Given the description of an element on the screen output the (x, y) to click on. 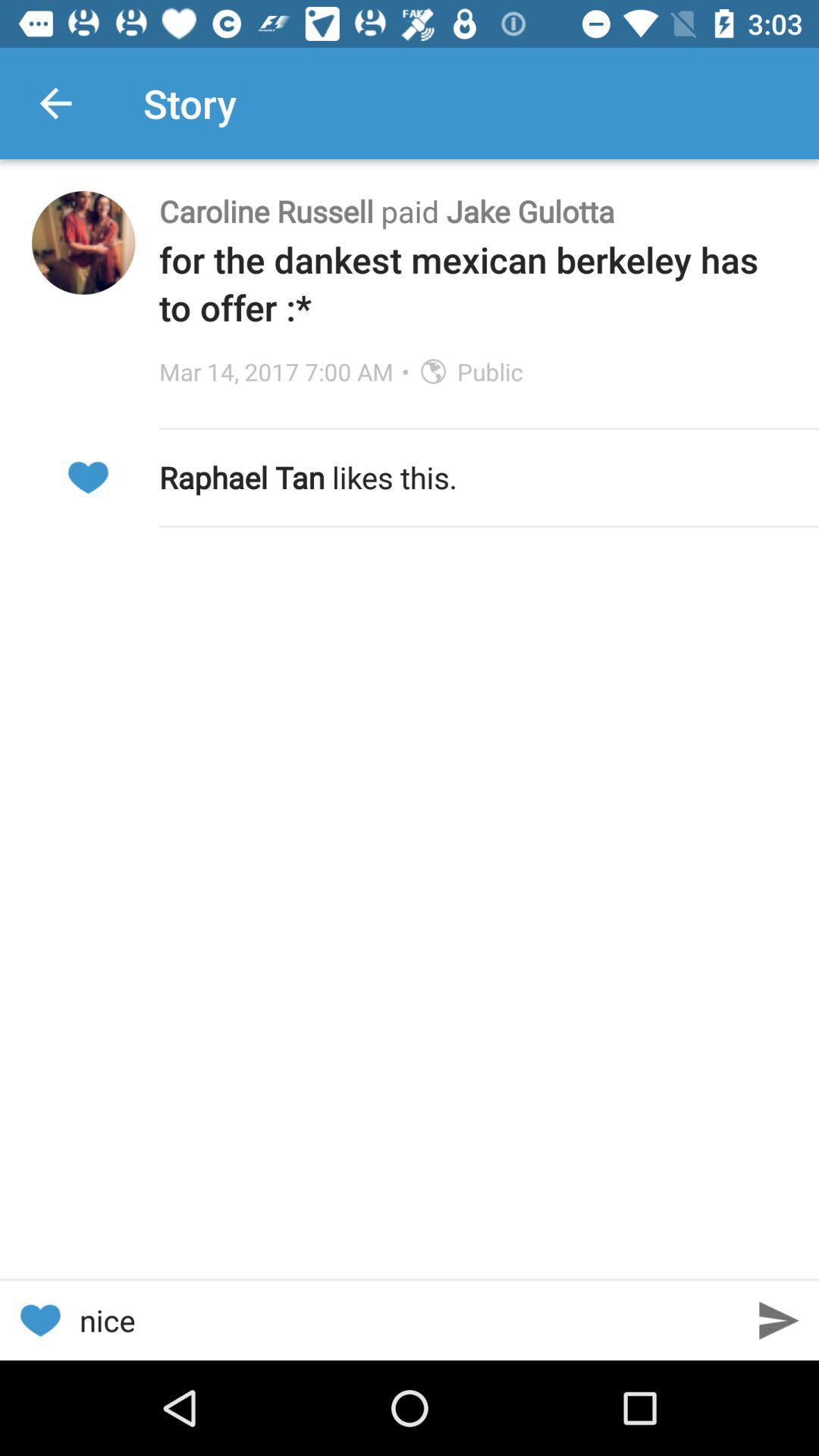
press the item above the public (473, 283)
